Given the description of an element on the screen output the (x, y) to click on. 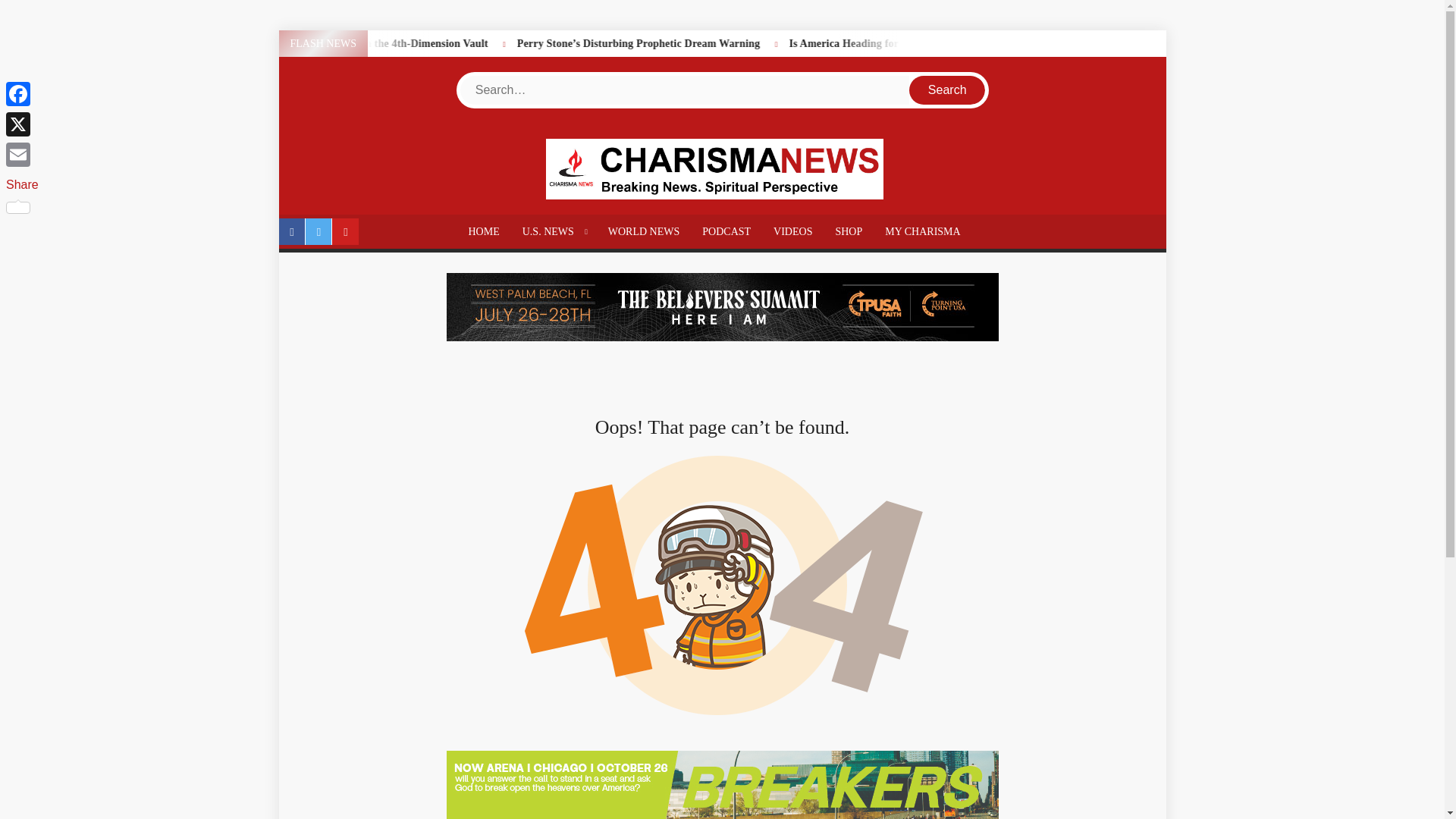
Search (922, 803)
Search (946, 90)
Search (922, 803)
Search (946, 90)
